Given the description of an element on the screen output the (x, y) to click on. 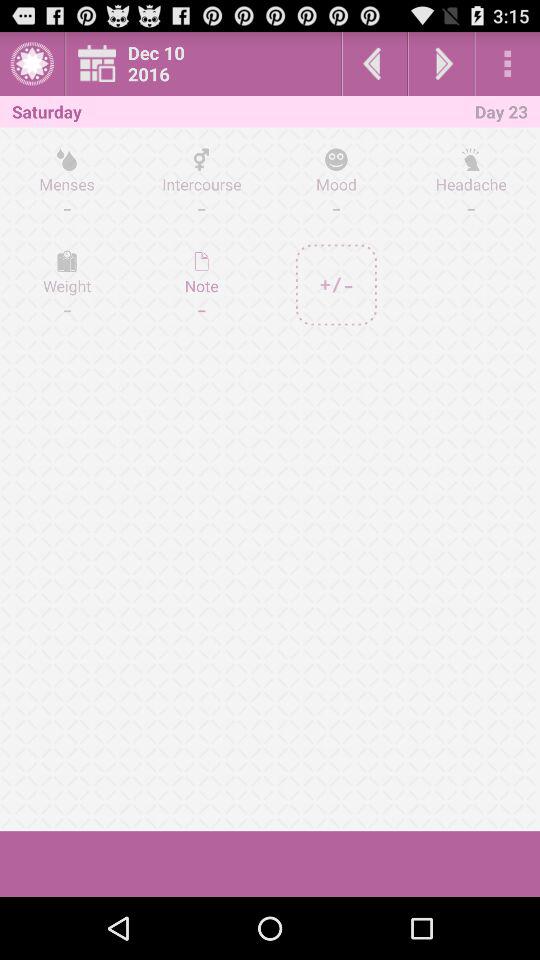
turn on the icon next to intercourse
_ icon (67, 183)
